Given the description of an element on the screen output the (x, y) to click on. 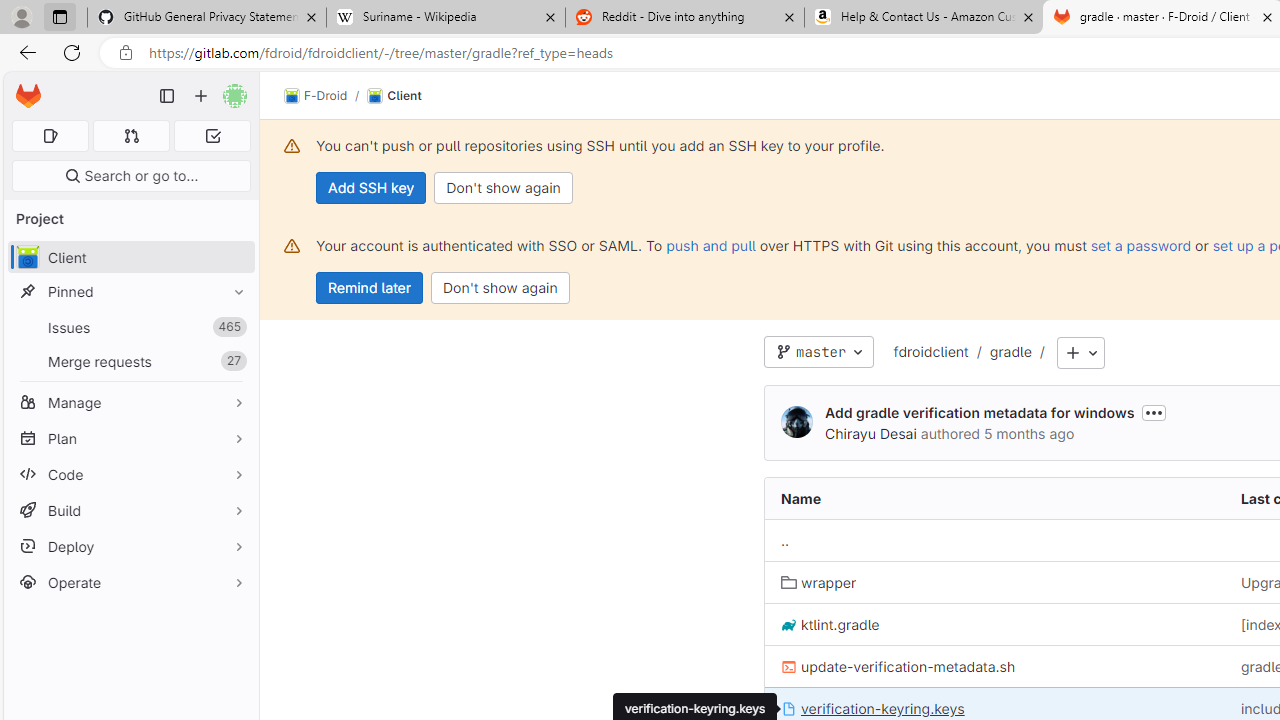
Code (130, 474)
Add SSH key (371, 187)
Create new... (201, 96)
Class: s16 gl-alert-icon gl-alert-icon-no-title (291, 246)
Unpin Issues (234, 327)
Operate (130, 582)
Class: s16 position-relative file-icon (788, 709)
Deploy (130, 546)
Toggle commit description (1154, 412)
Issues465 (130, 327)
Pinned (130, 291)
